Given the description of an element on the screen output the (x, y) to click on. 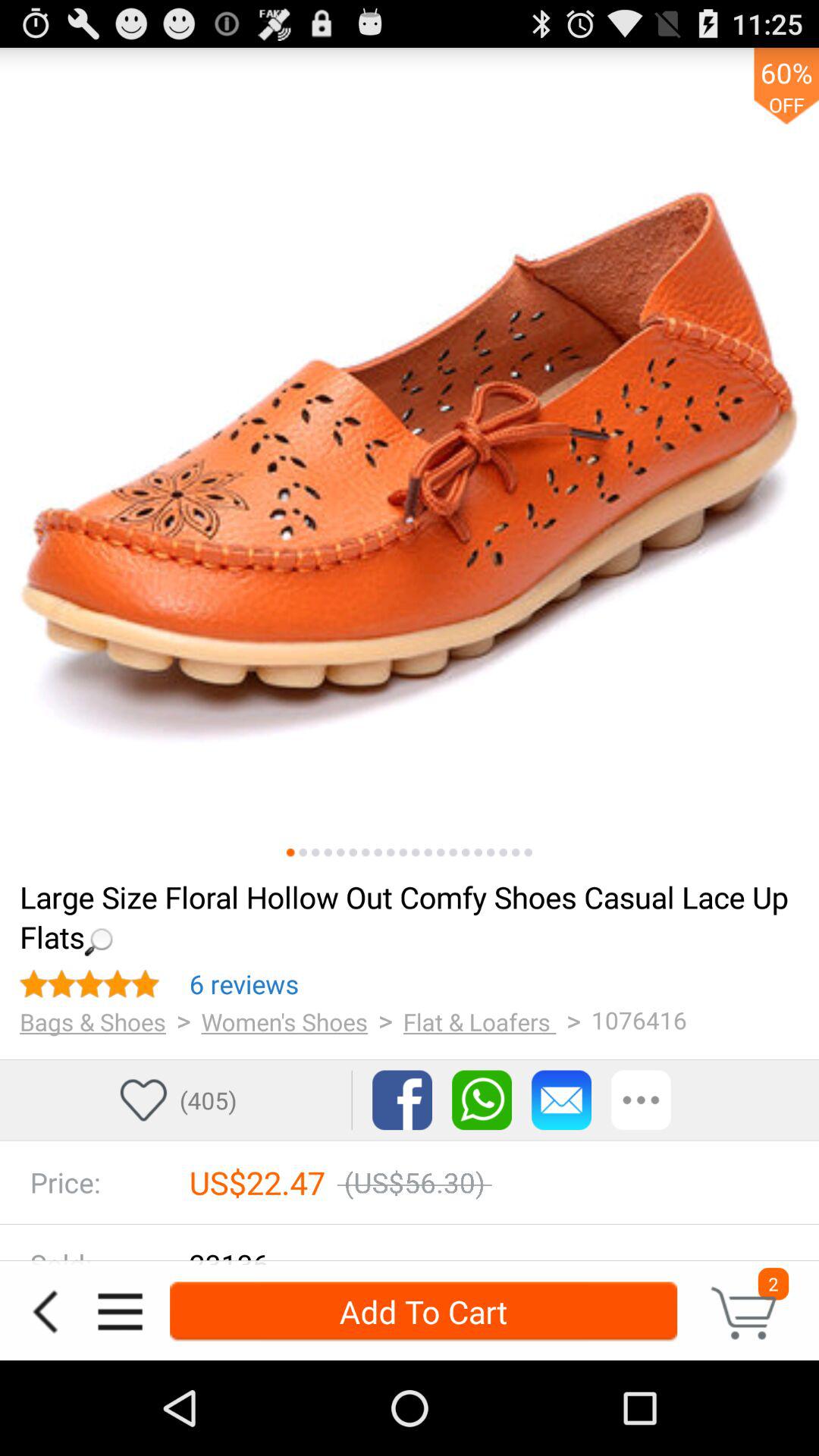
view another photo of this product (390, 852)
